Given the description of an element on the screen output the (x, y) to click on. 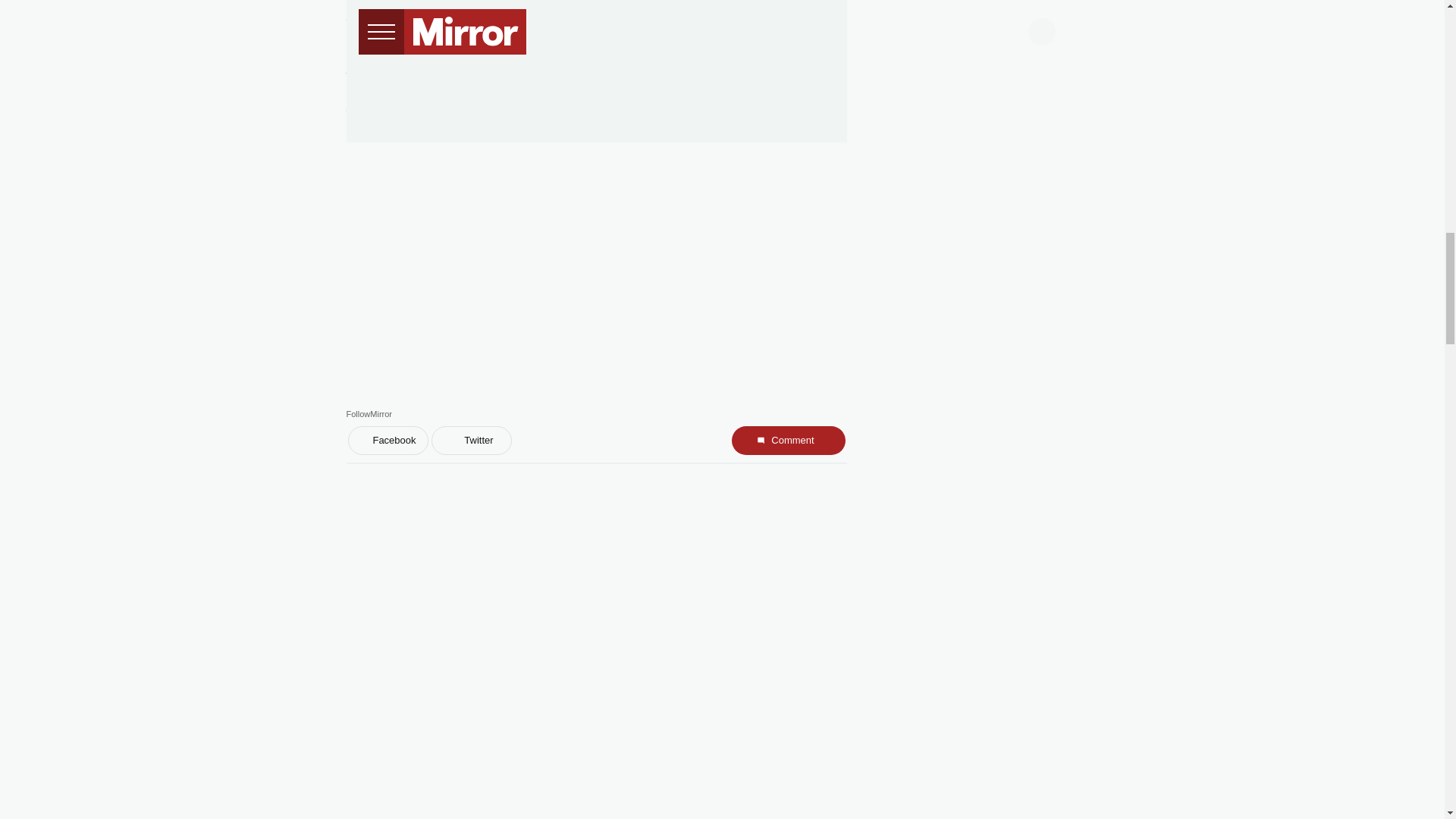
North West Evening Mail (642, 133)
